Given the description of an element on the screen output the (x, y) to click on. 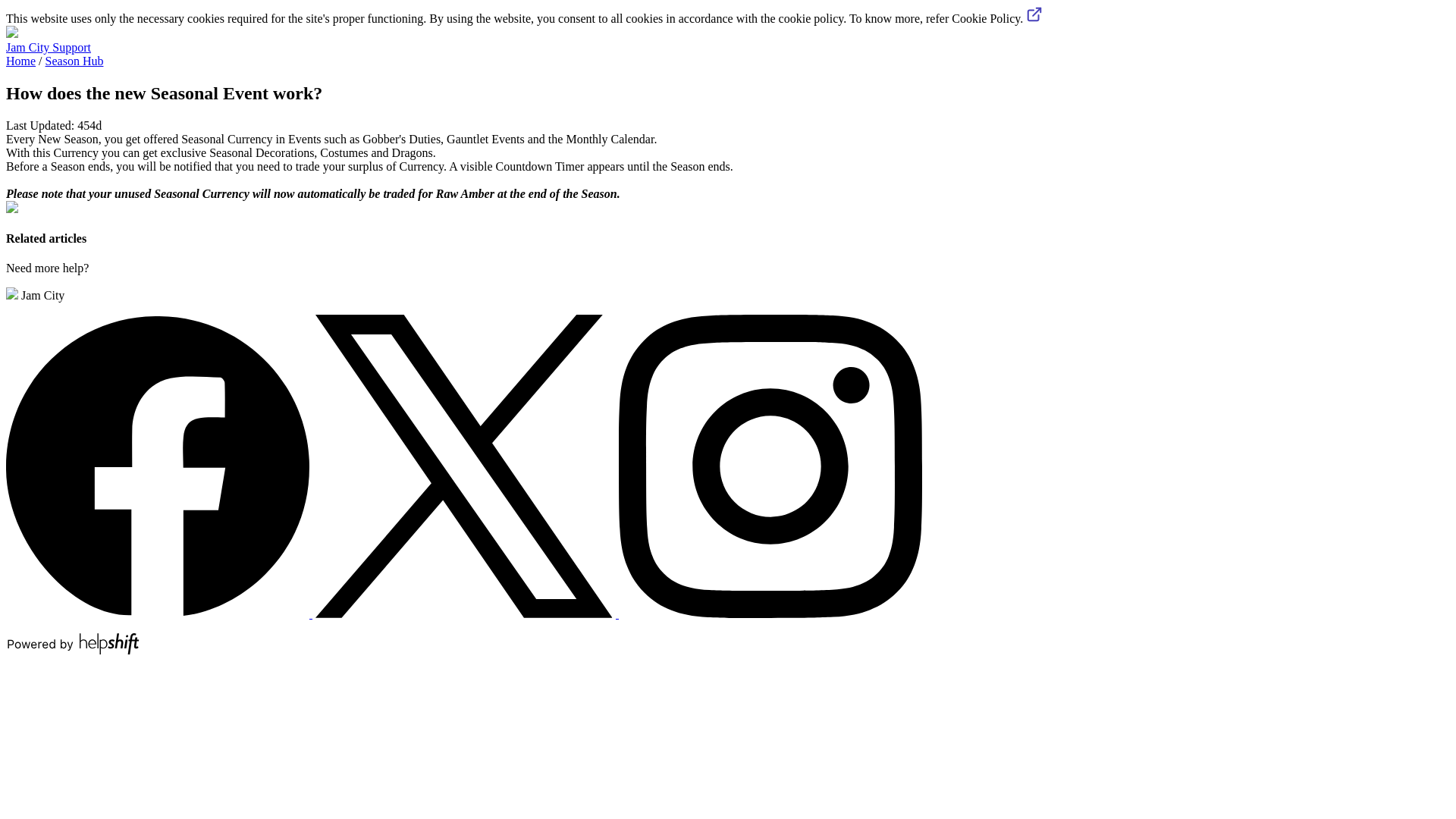
Jam City (34, 295)
Logo Facebook (156, 466)
Logo Instagram (769, 466)
Home (19, 60)
Jam City Support (47, 47)
Logo Facebook (159, 613)
Logo Instagram (769, 613)
Season Hub (74, 60)
